Given the description of an element on the screen output the (x, y) to click on. 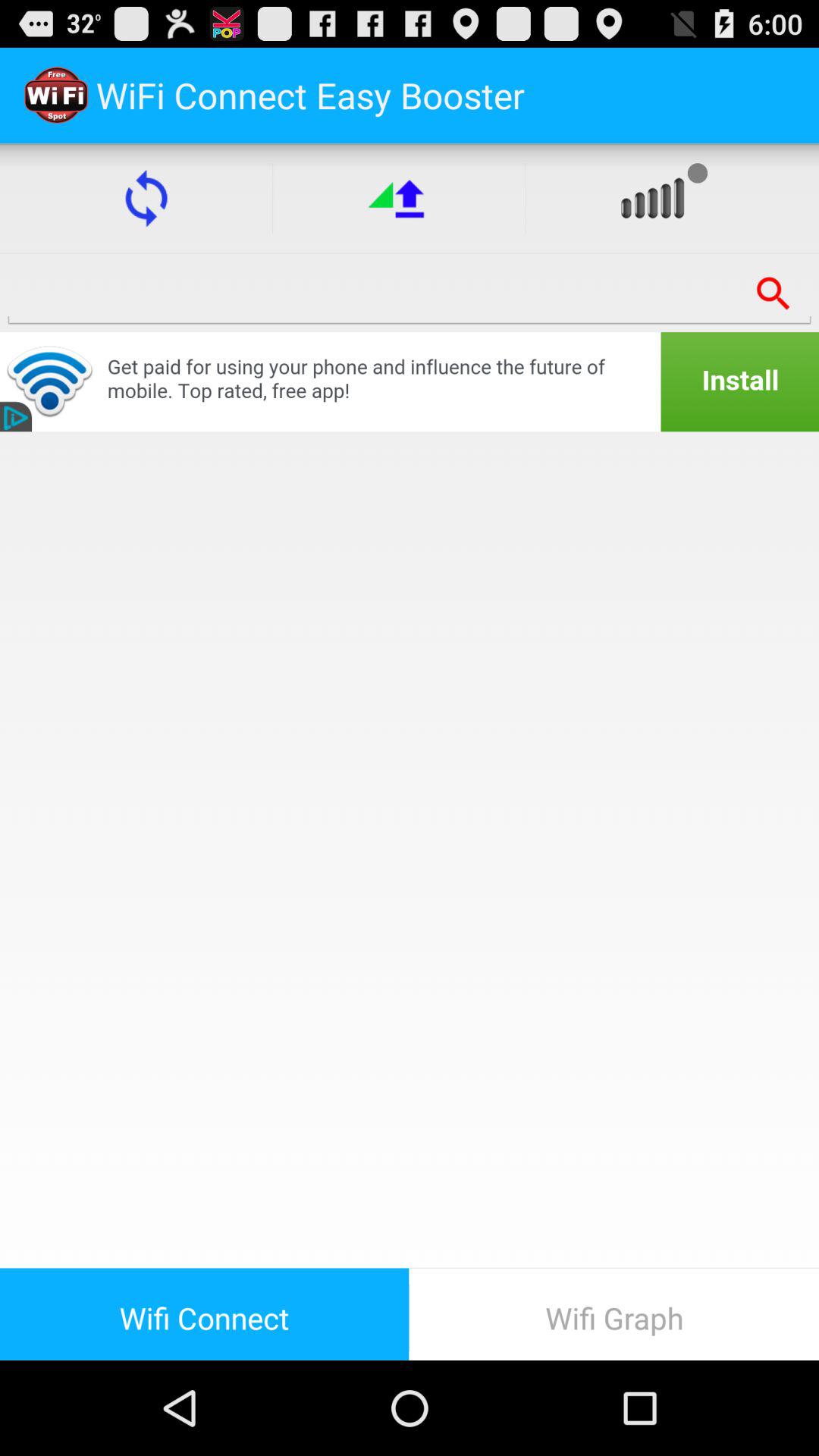
click the icon below wifi connect easy (398, 198)
